Given the description of an element on the screen output the (x, y) to click on. 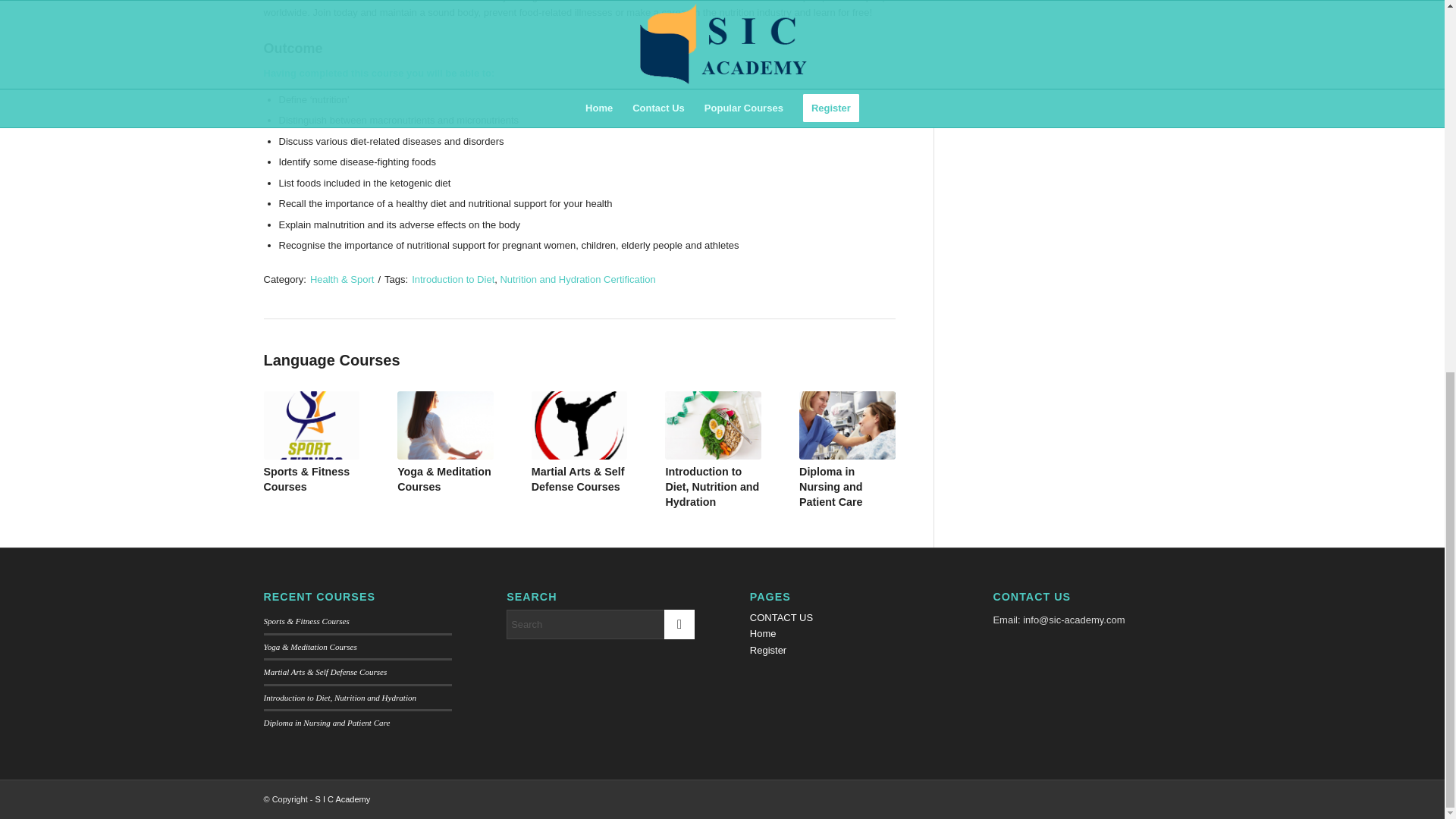
Diploma in Nursing and Patient Care (847, 425)
Introduction to Diet, Nutrition and Hydration (713, 425)
Diploma in Nursing and Patient Care (830, 486)
Introduction to Diet, Nutrition and Hydration (711, 486)
Introduction to Diet, Nutrition and Hydration (711, 486)
Introduction to Diet (453, 278)
Nutrition and Hydration Certification (577, 278)
Diploma in Nursing and Patient Care (830, 486)
